Given the description of an element on the screen output the (x, y) to click on. 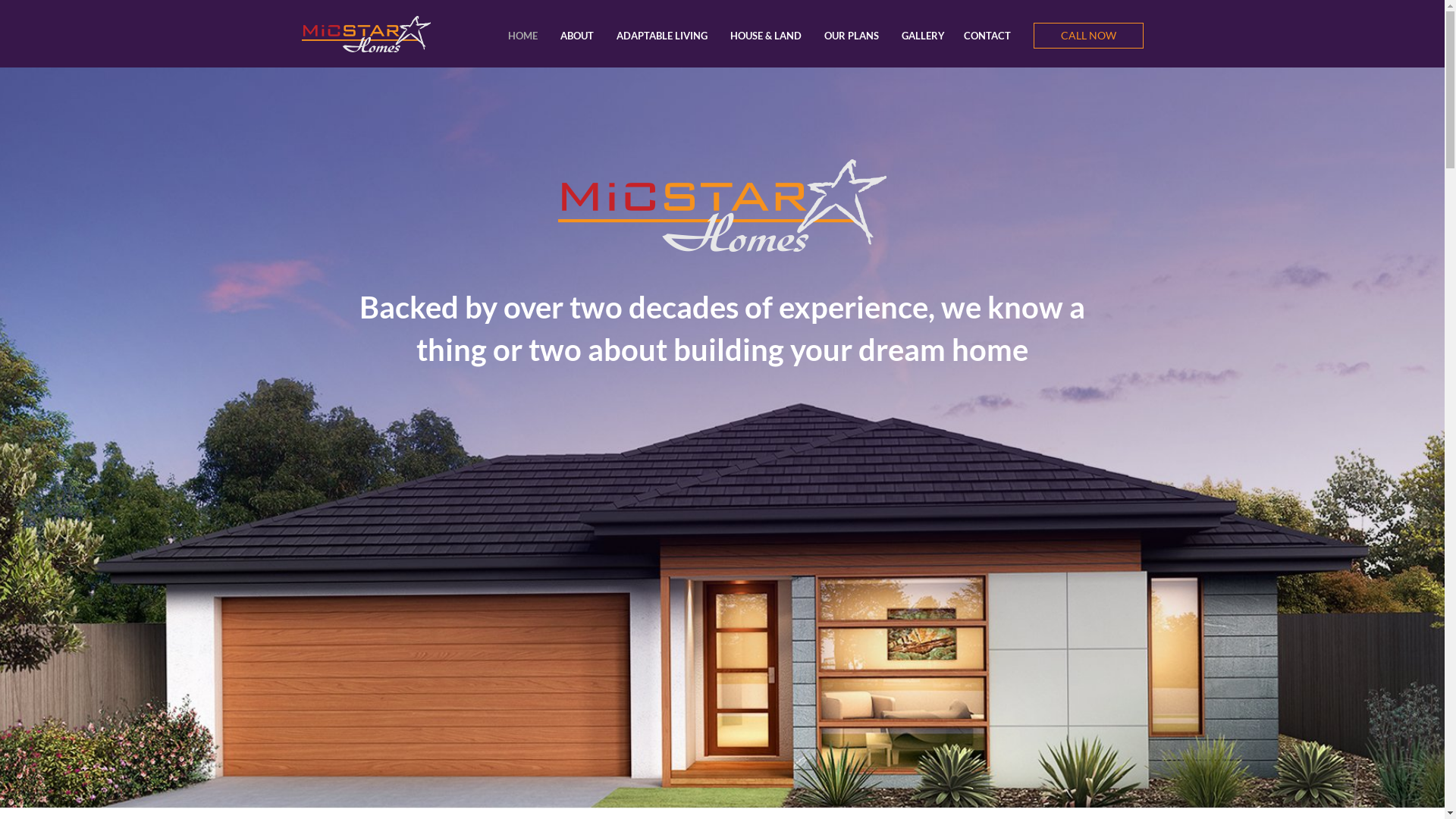
CALL NOW Element type: text (1087, 35)
ADAPTABLE LIVING Element type: text (660, 35)
340x96-logo Element type: hover (365, 33)
HOUSE & LAND Element type: text (764, 35)
header image Element type: hover (722, 205)
GALLERY Element type: text (922, 35)
OUR PLANS Element type: text (850, 35)
ABOUT Element type: text (576, 35)
CONTACT Element type: text (986, 35)
HOME Element type: text (522, 35)
